Given the description of an element on the screen output the (x, y) to click on. 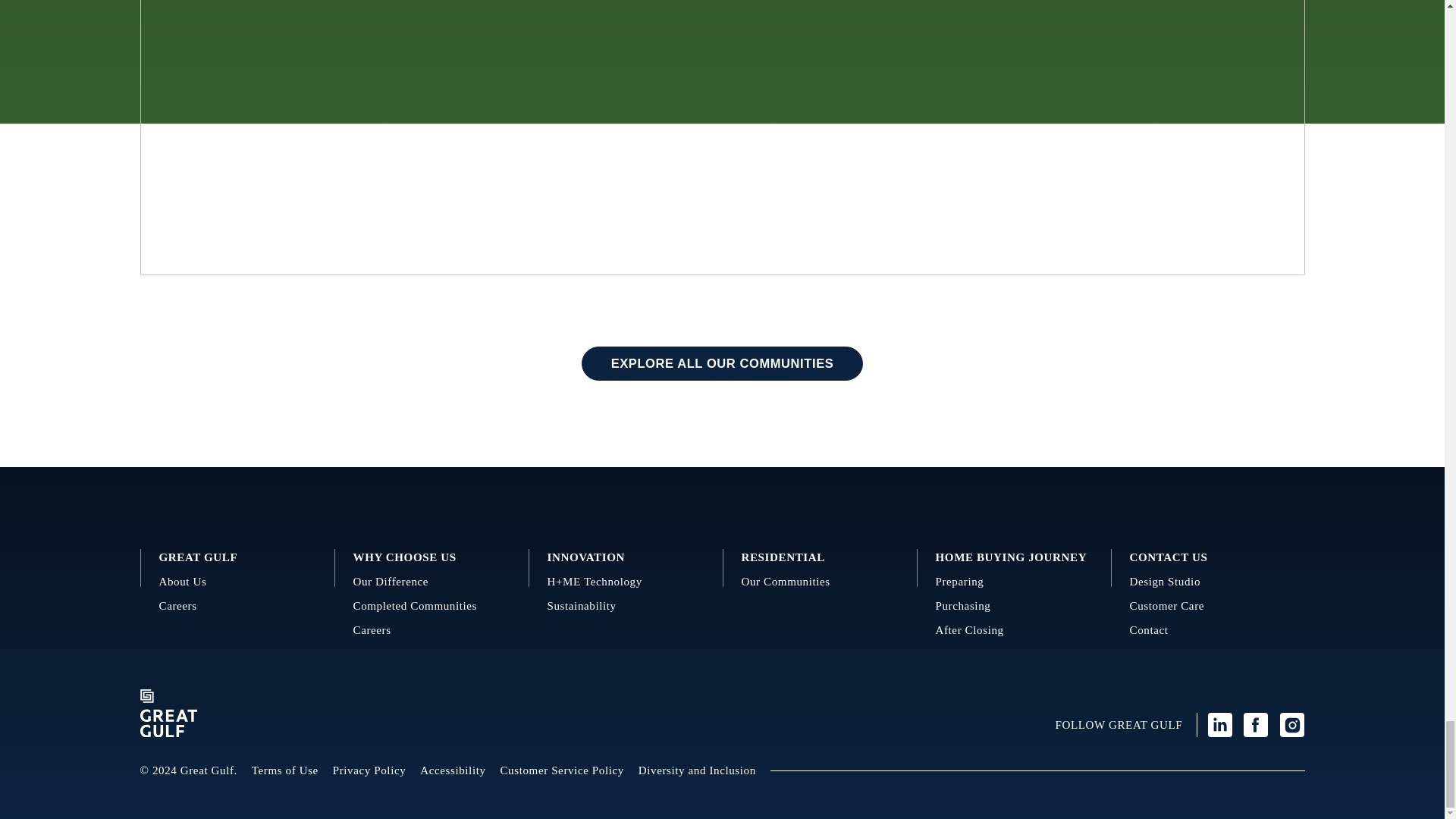
Terms of Use (284, 770)
EXPLORE ALL OUR COMMUNITIES (721, 363)
Preparing (1014, 581)
Purchasing (1014, 606)
About Us (236, 581)
Contact (1208, 630)
Careers (432, 630)
Customer Care (1208, 606)
Careers (236, 606)
Design Studio (1208, 581)
Completed Communities (432, 606)
Sustainability (625, 606)
Our Difference (432, 581)
Our Communities (819, 581)
Privacy Policy (369, 770)
